Given the description of an element on the screen output the (x, y) to click on. 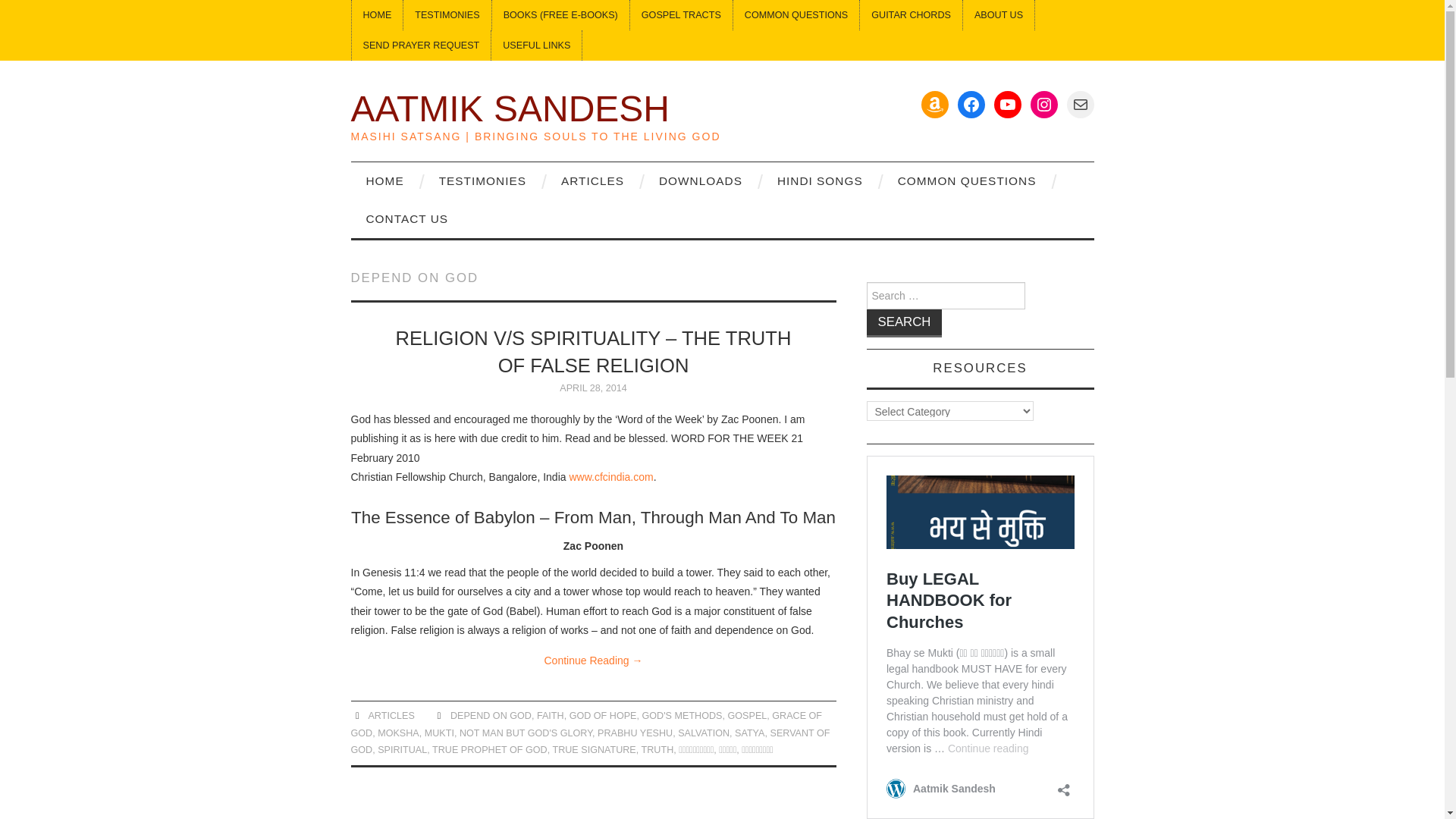
SEND PRAYER REQUEST (422, 45)
Search (904, 323)
Search (904, 323)
COMMON QUESTIONS (796, 15)
HOME (377, 15)
AATMIK SANDESH (509, 108)
GUITAR CHORDS (911, 15)
TESTIMONIES (446, 15)
Search for: (945, 295)
